Given the description of an element on the screen output the (x, y) to click on. 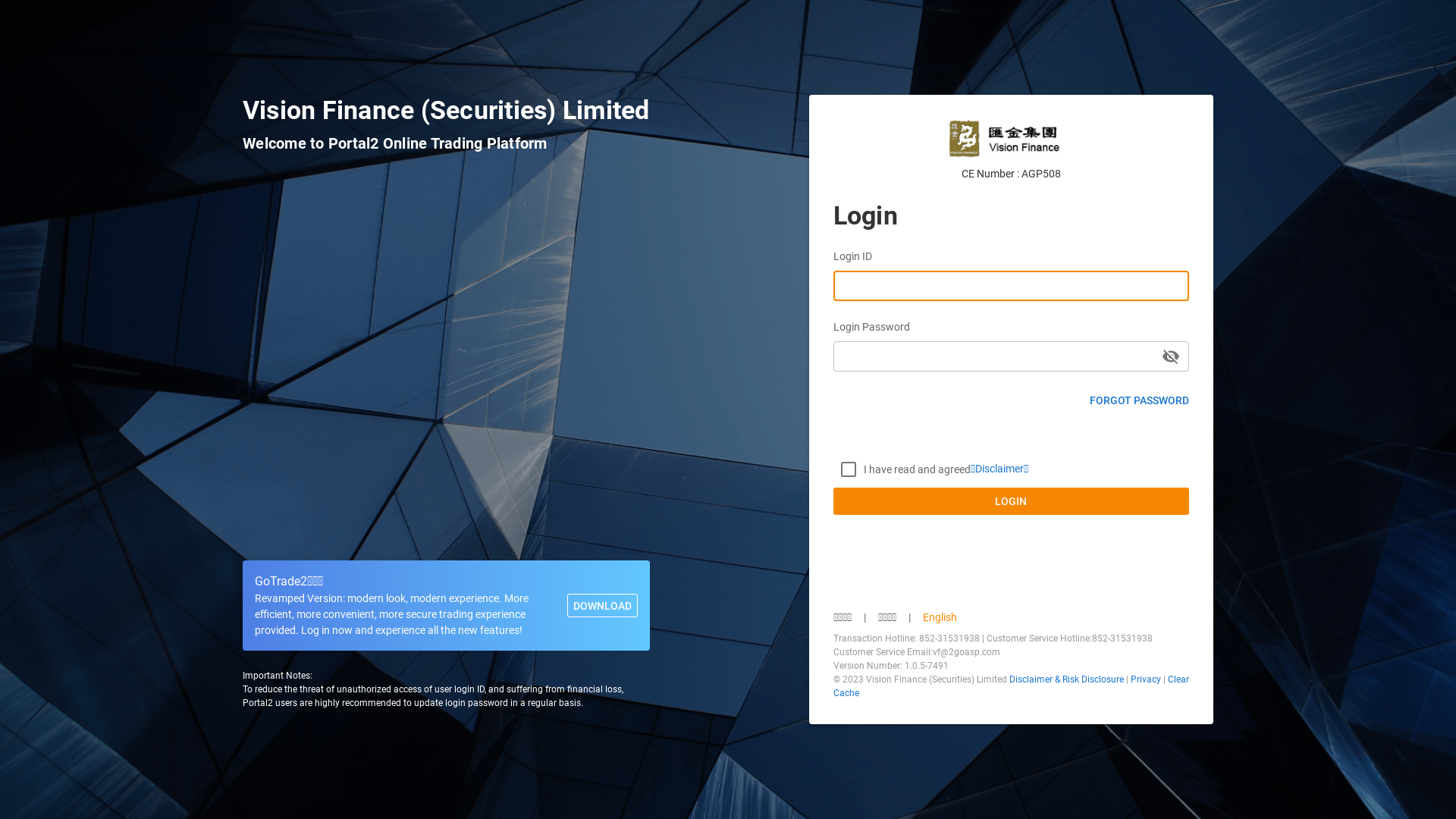
FORGOT PASSWORD Element type: text (1139, 400)
DOWNLOAD Element type: text (602, 605)
LOGIN Element type: text (1011, 500)
